Given the description of an element on the screen output the (x, y) to click on. 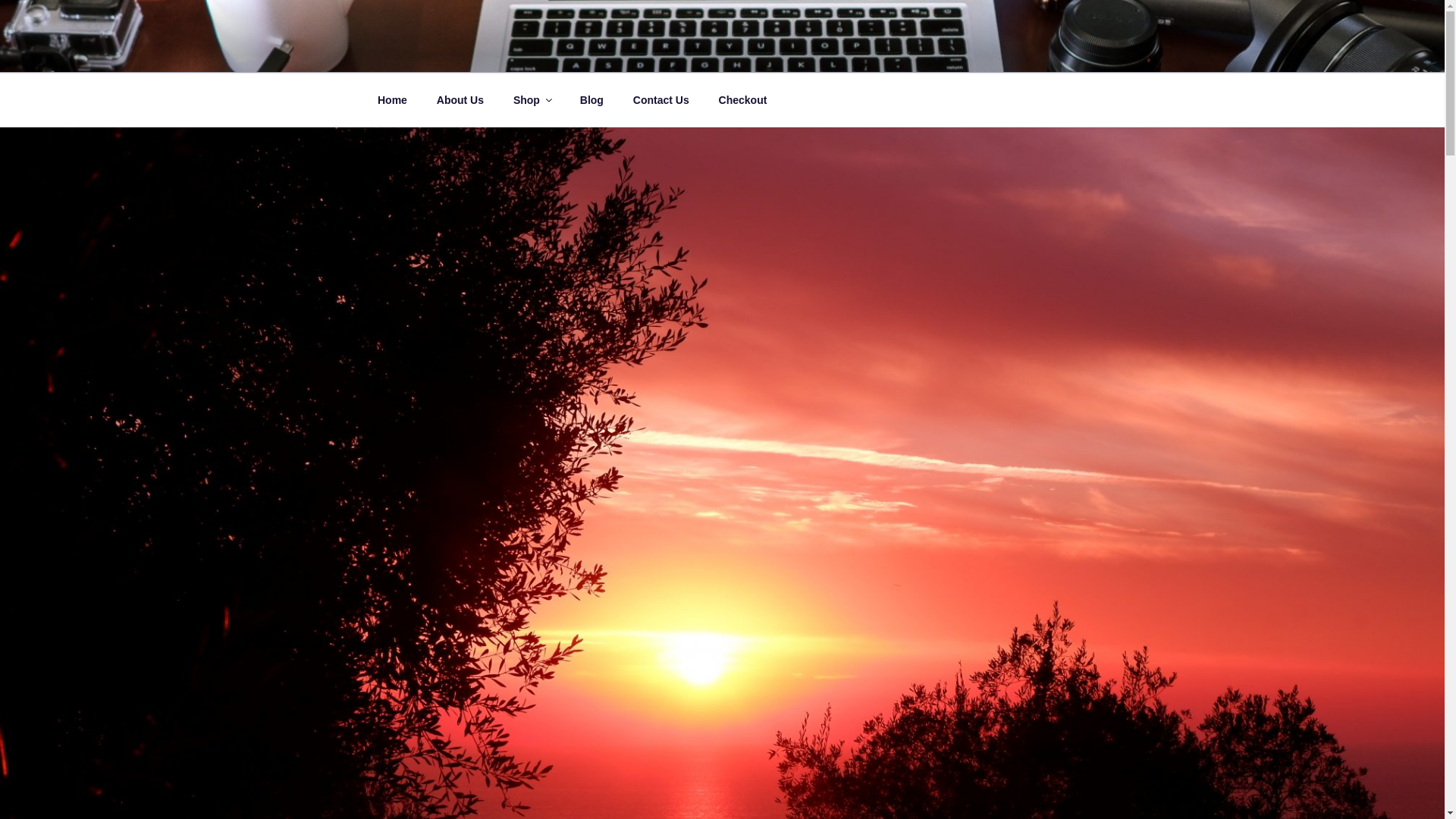
Shop (531, 99)
Home (392, 99)
About Us (459, 99)
Contact Us (660, 99)
Checkout (742, 99)
Blog (590, 99)
VEDA (421, 52)
